Given the description of an element on the screen output the (x, y) to click on. 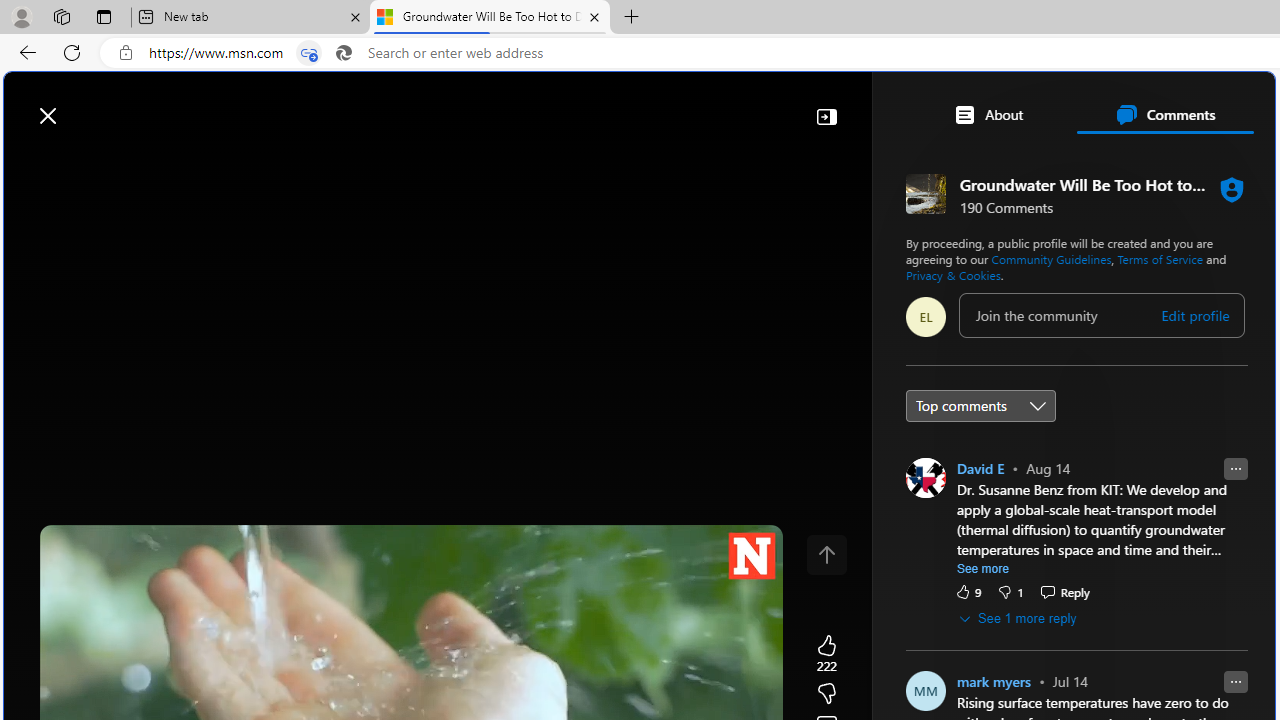
Skip to footer (82, 105)
222 Like (826, 653)
Comments (1165, 114)
Personalize (1195, 162)
